Given the description of an element on the screen output the (x, y) to click on. 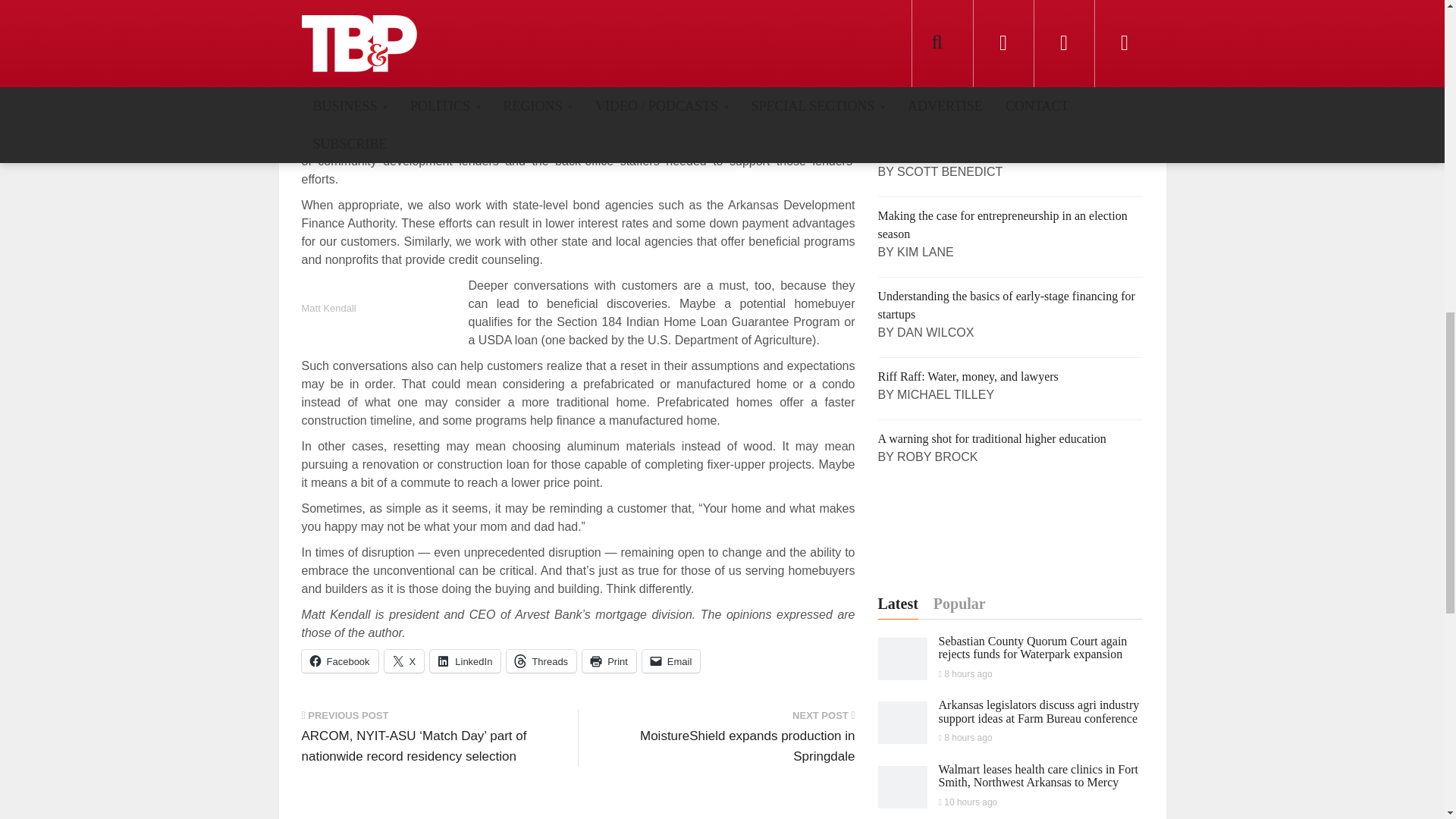
Click to print (609, 661)
Click to share on Facebook (339, 661)
Click to share on X (404, 661)
Click to share on LinkedIn (464, 661)
Click to share on Threads (541, 661)
